Given the description of an element on the screen output the (x, y) to click on. 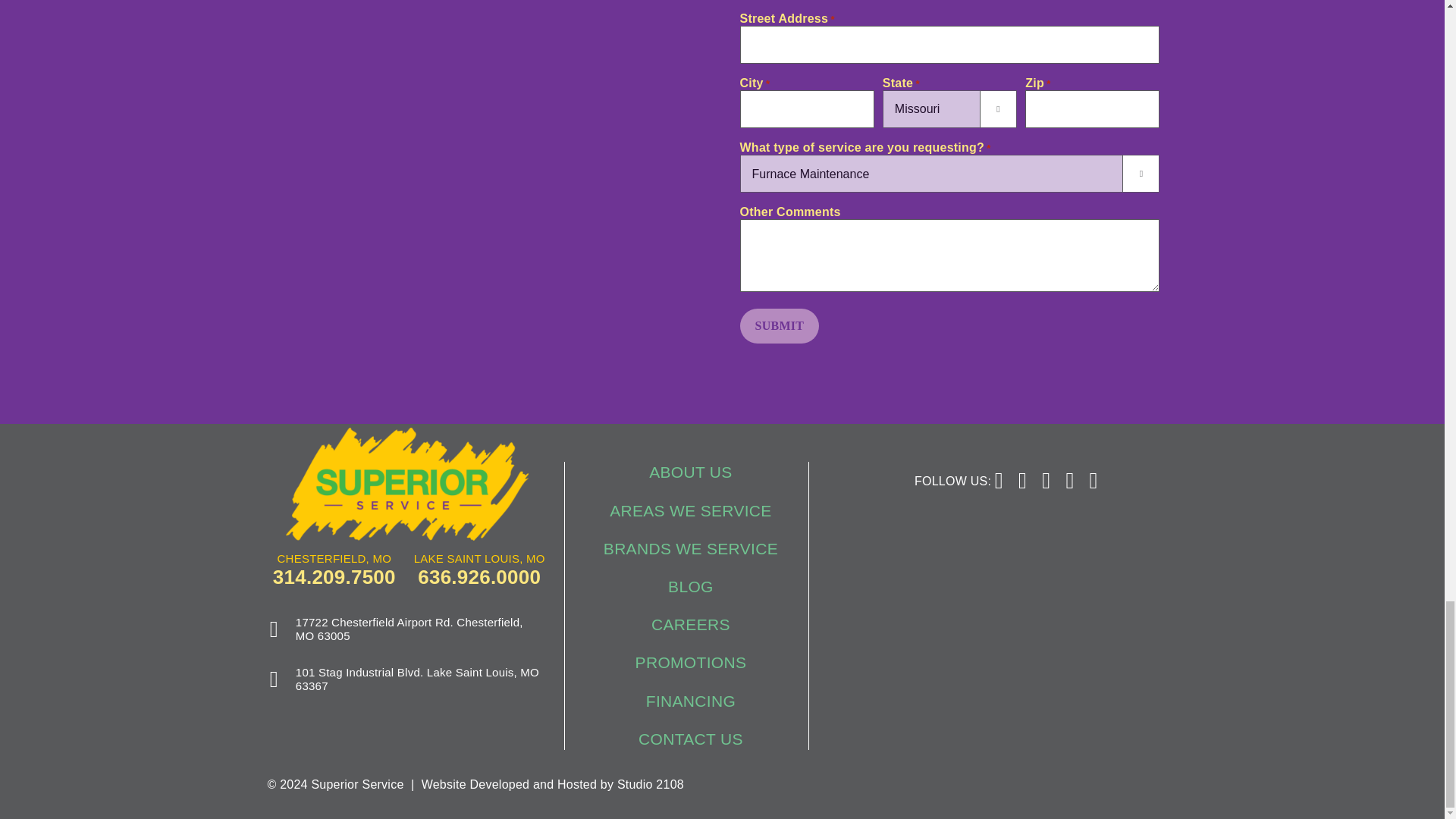
Byrant logo (1094, 582)
St Charles County member (1094, 685)
Submit (779, 325)
Byrant Factory logo (916, 684)
Nate Logo (917, 582)
